Given the description of an element on the screen output the (x, y) to click on. 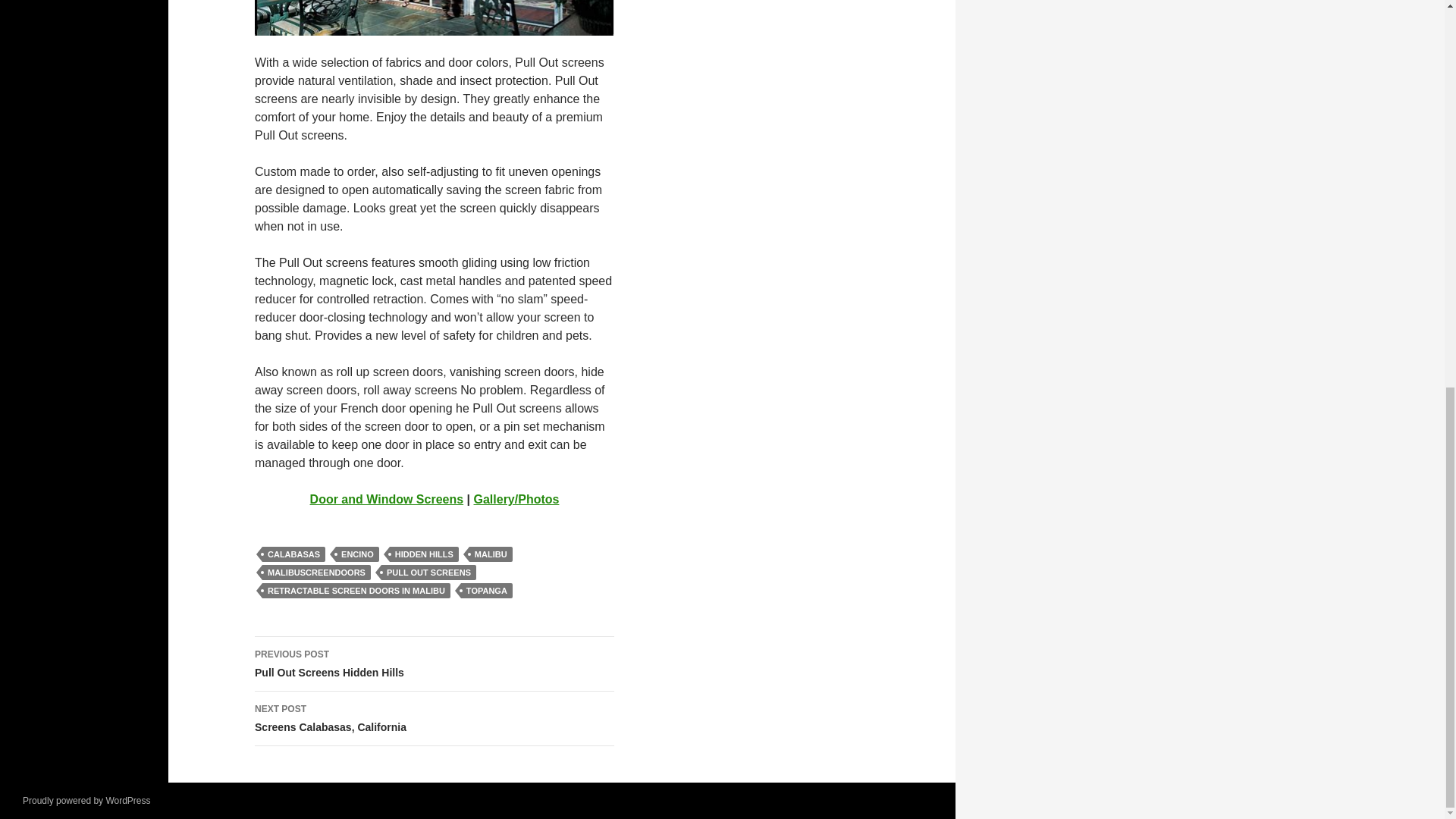
TOPANGA (486, 590)
ENCINO (357, 554)
RETRACTABLE SCREEN DOORS IN MALIBU (434, 664)
HIDDEN HILLS (355, 590)
Proudly powered by WordPress (424, 554)
MALIBUSCREENDOORS (87, 800)
CALABASAS (434, 718)
PULL OUT SCREENS (316, 572)
